Given the description of an element on the screen output the (x, y) to click on. 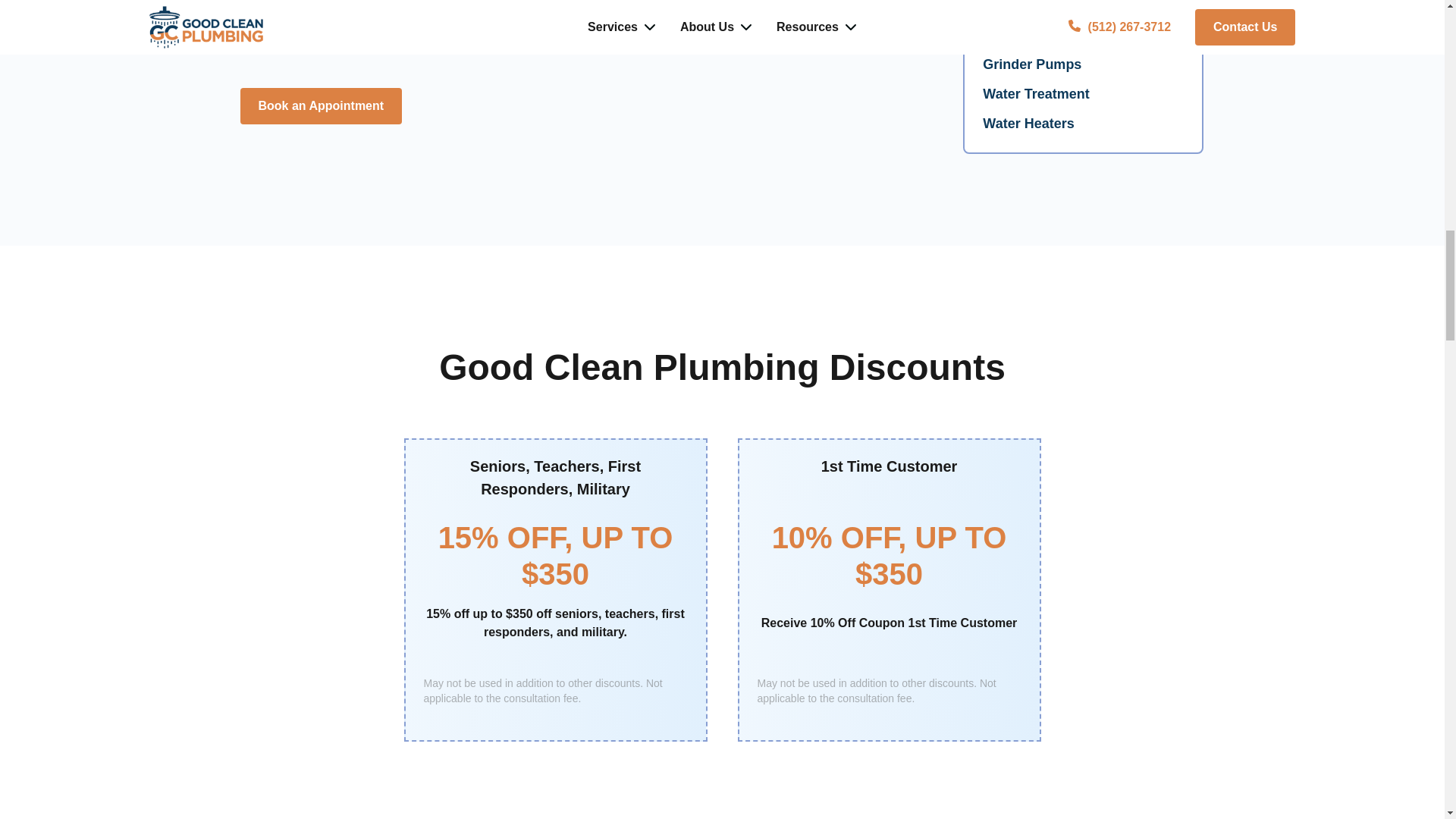
Book an Appointment (320, 105)
